Given the description of an element on the screen output the (x, y) to click on. 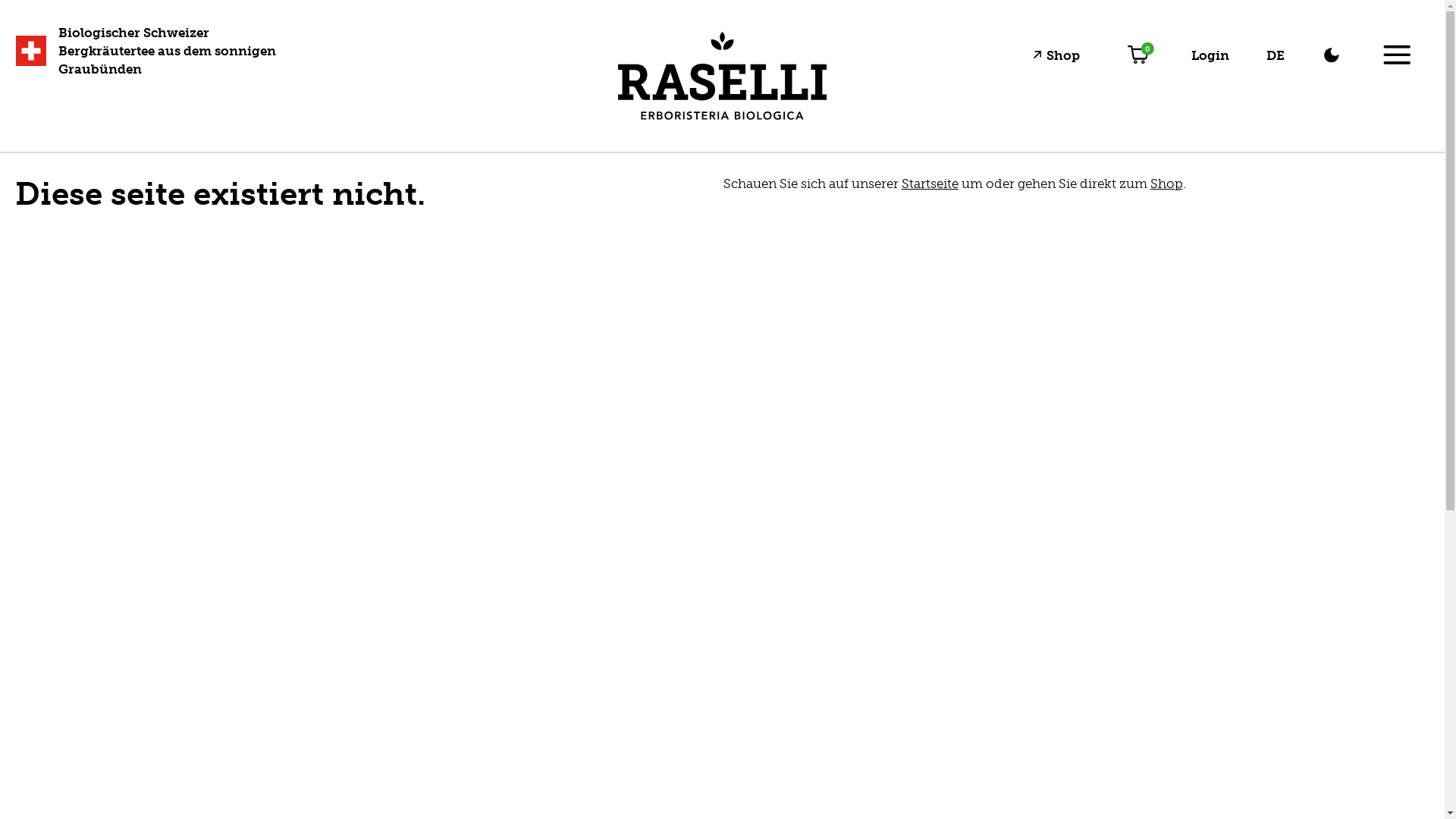
Startseite Element type: text (928, 183)
Shop Element type: text (1060, 54)
Warenkorb Element type: hover (1137, 54)
Login Element type: text (1210, 54)
SPRACHE WECHSELN (AKTUELL DE)
DE Element type: text (1274, 54)
Homepage Element type: hover (722, 76)
Zu dunklem Design wechseln Element type: text (1331, 55)
Shop Element type: text (1165, 183)
